Given the description of an element on the screen output the (x, y) to click on. 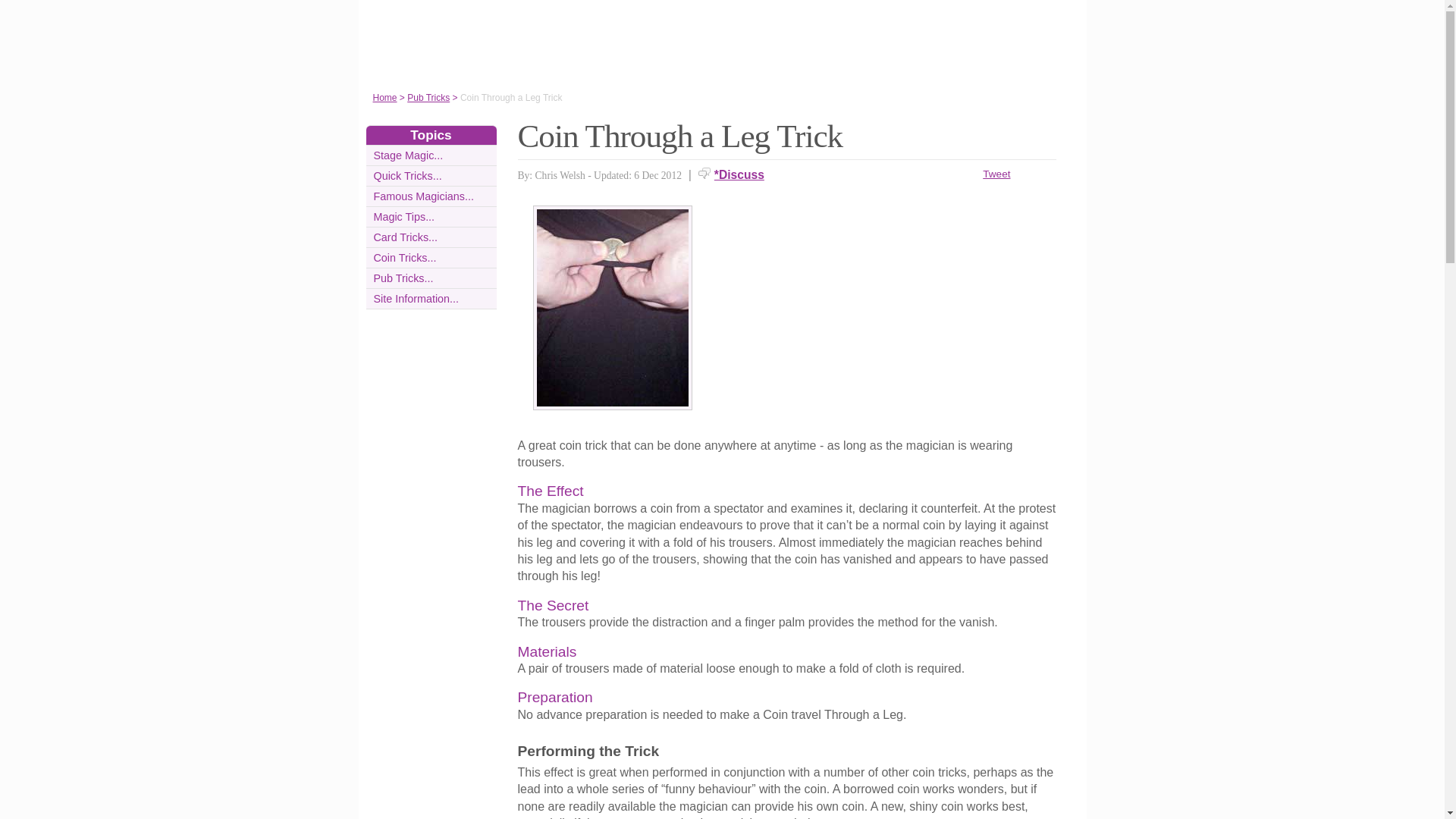
Card Tricks... (405, 236)
Home (384, 97)
Coin Tricks... (403, 257)
Quick Tricks... (406, 175)
Tweet (996, 173)
Pub Tricks (428, 97)
Pub Tricks... (402, 277)
Advertisement (889, 311)
Stage Magic... (407, 155)
Magic Tips... (402, 216)
Famous Magicians... (422, 196)
Site Information... (415, 298)
